Given the description of an element on the screen output the (x, y) to click on. 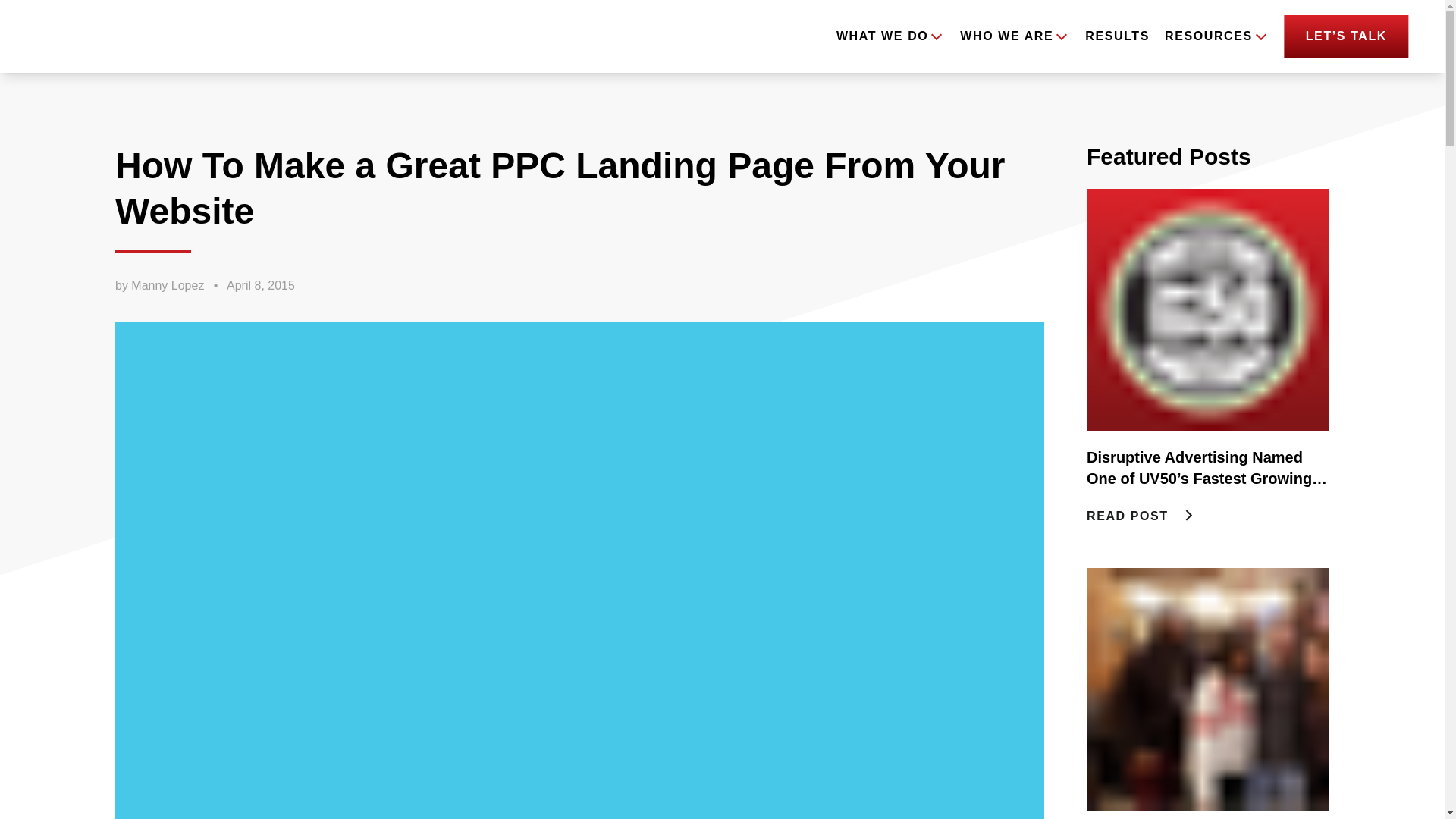
RESULTS (1117, 36)
WHO WE ARE (1005, 36)
RESOURCES (1208, 36)
WHAT WE DO (881, 36)
